Given the description of an element on the screen output the (x, y) to click on. 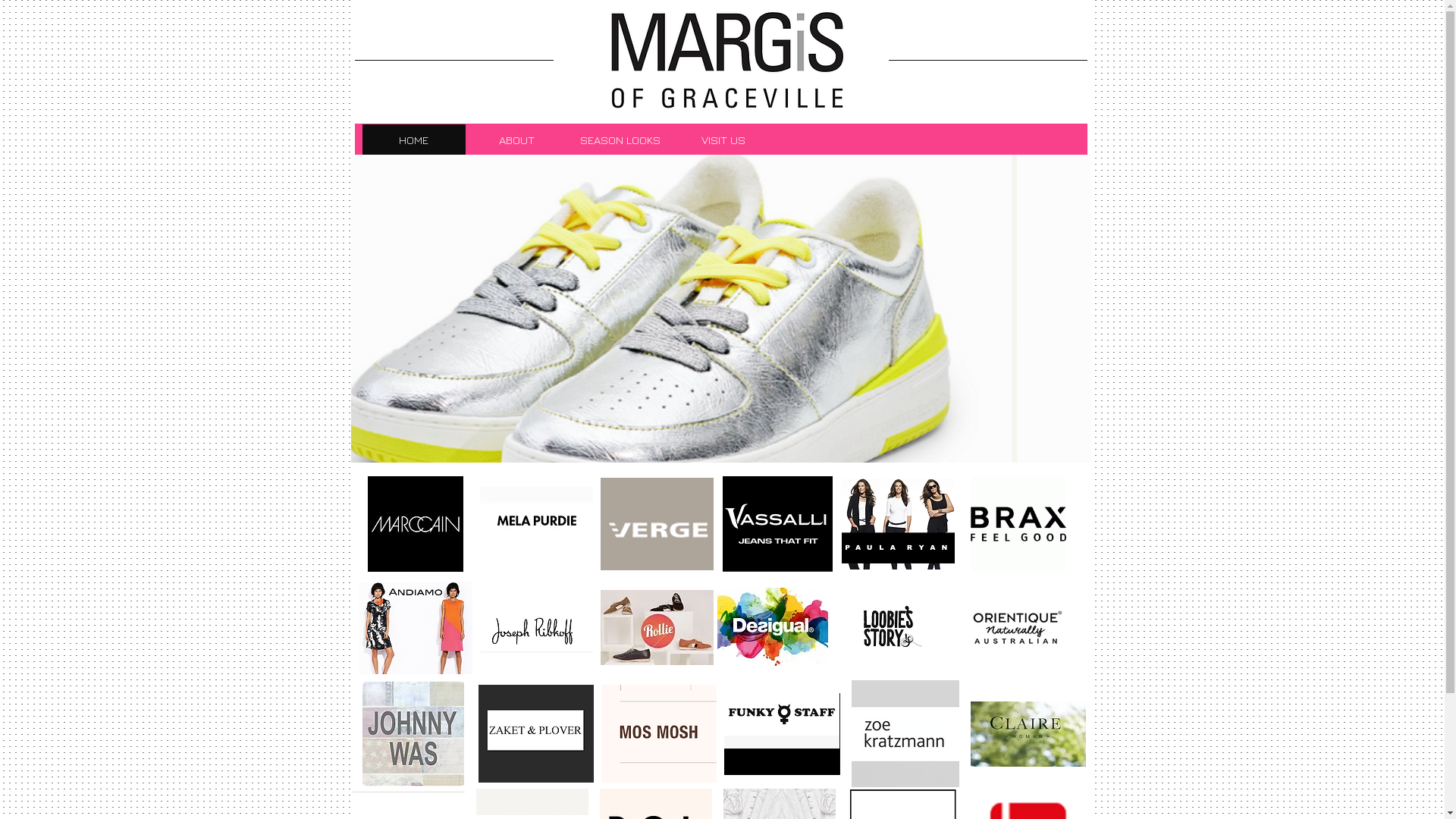
SEASON LOOKS Element type: text (619, 139)
VISIT US Element type: text (723, 139)
HOME Element type: text (413, 139)
ABOUT Element type: text (516, 139)
